Given the description of an element on the screen output the (x, y) to click on. 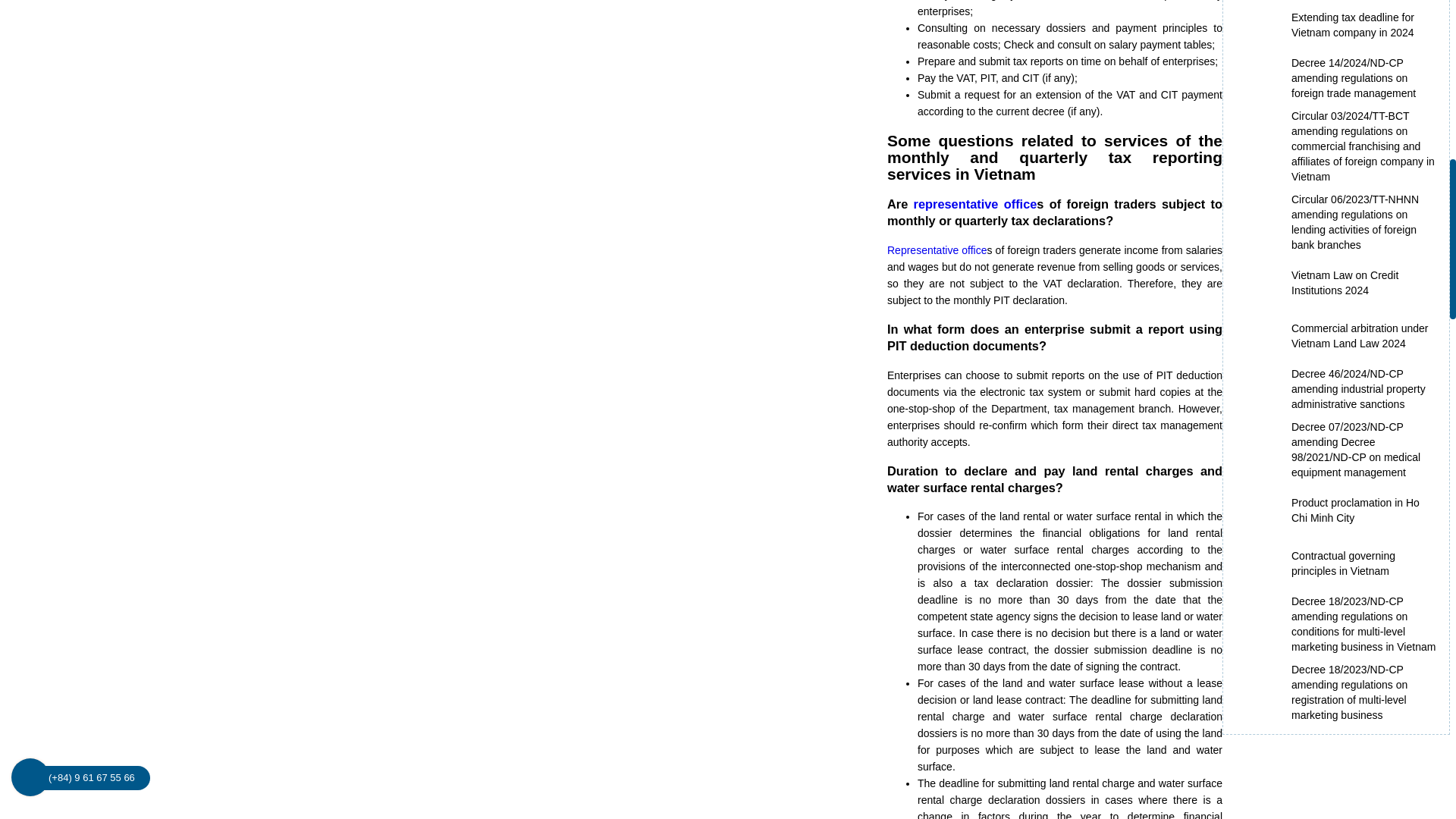
representative office (975, 203)
representative office (975, 203)
representative office (936, 250)
